Given the description of an element on the screen output the (x, y) to click on. 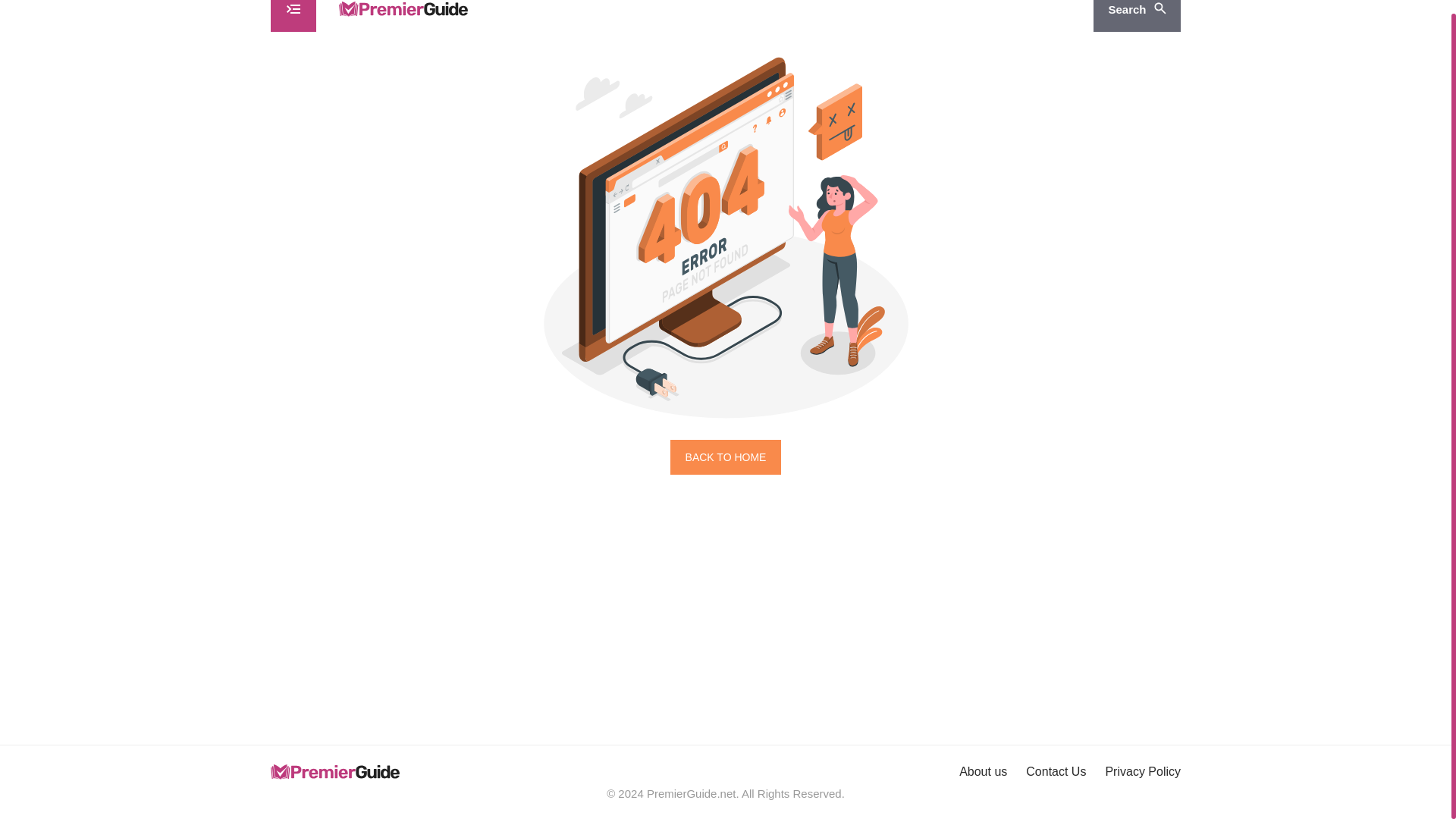
About us (983, 771)
BACK TO HOME (725, 457)
Search (1136, 15)
Privacy Policy (1142, 771)
Contact Us (1056, 771)
